Given the description of an element on the screen output the (x, y) to click on. 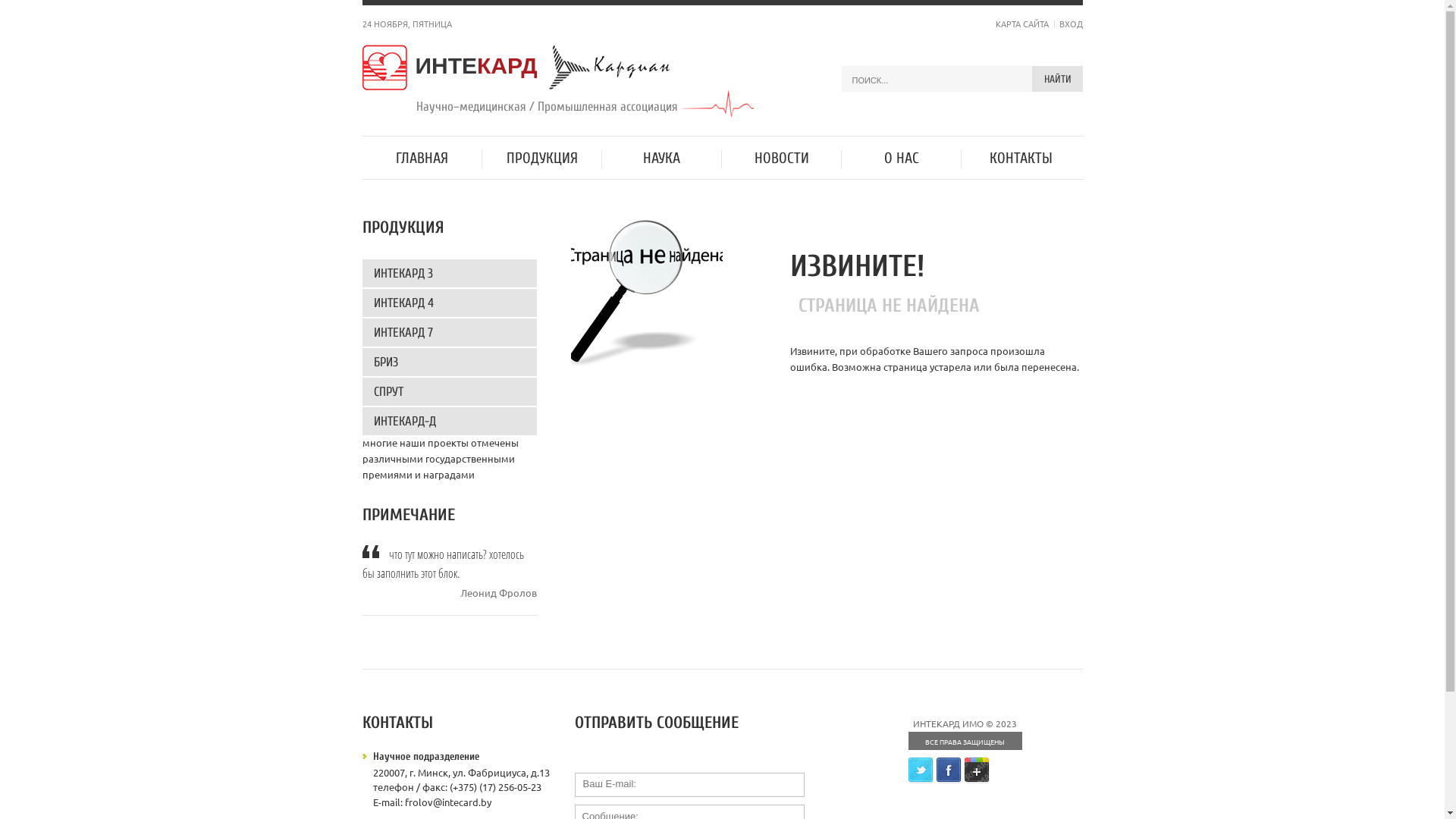
Facebook Element type: hover (948, 765)
Twitter Element type: hover (921, 765)
Google+ Element type: hover (977, 765)
